Given the description of an element on the screen output the (x, y) to click on. 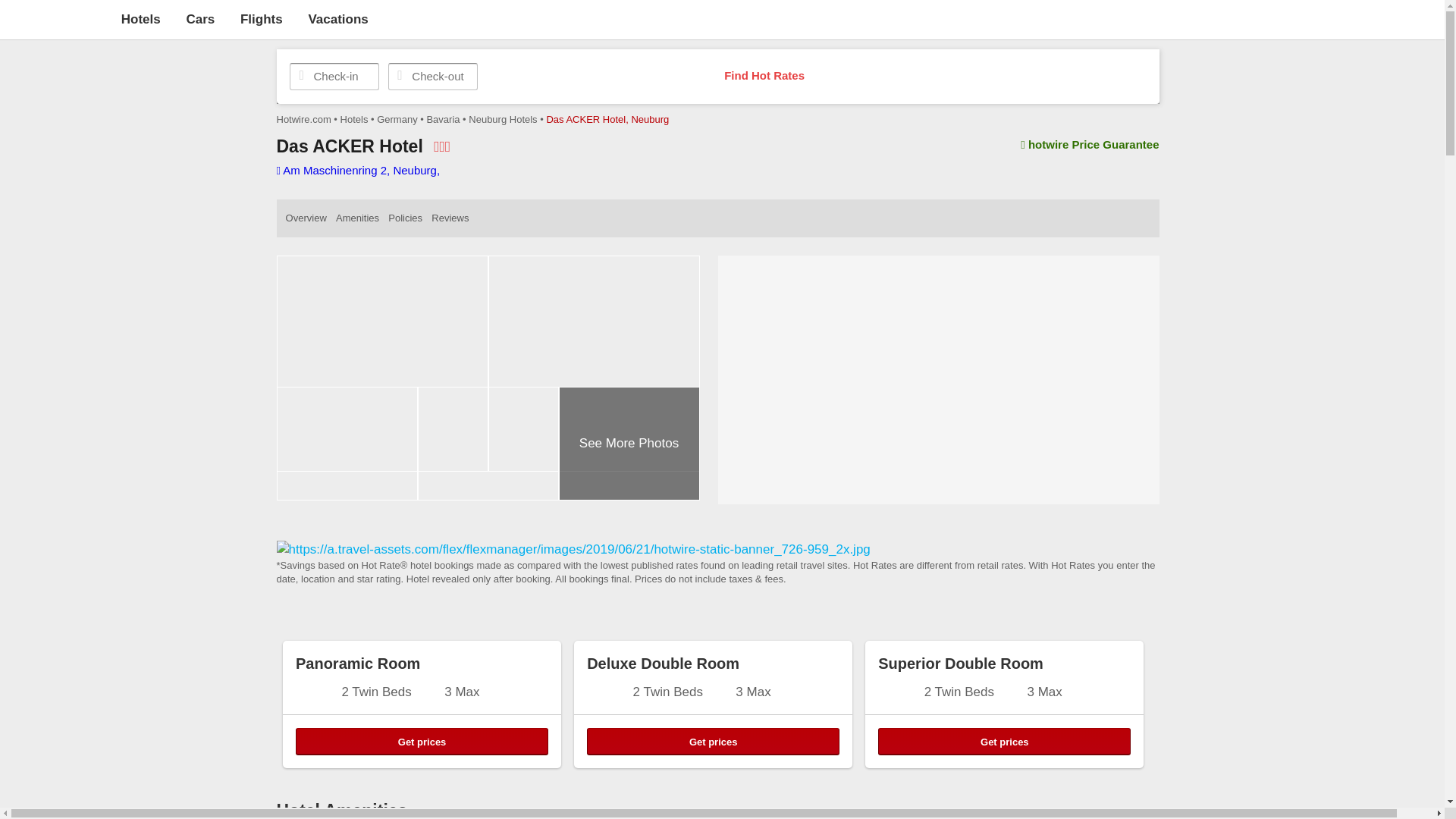
Vacations (337, 19)
Hotwire (56, 18)
Hotels (140, 19)
Cars (200, 19)
Flights (261, 19)
